Given the description of an element on the screen output the (x, y) to click on. 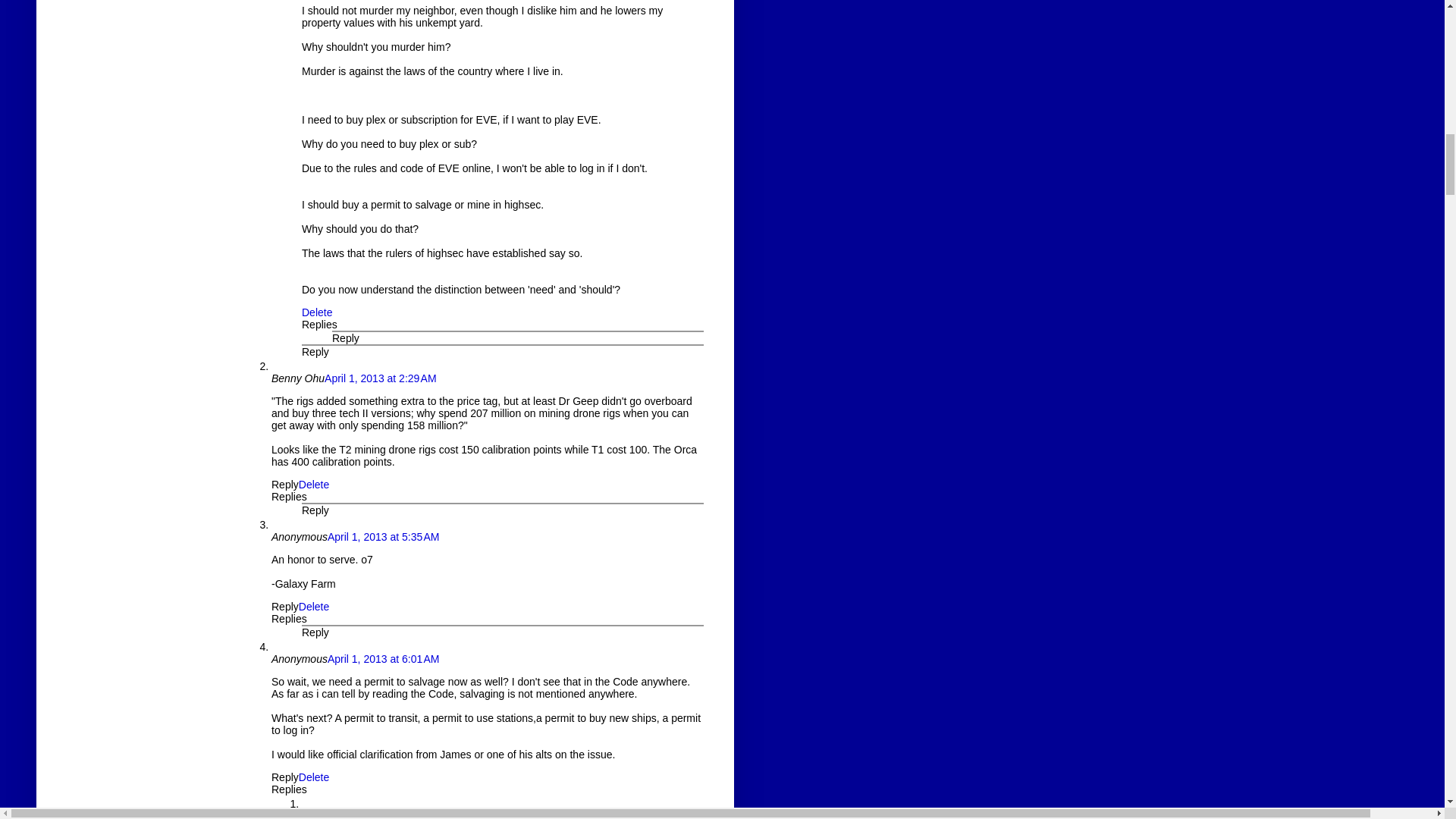
Reply (345, 337)
Reply (315, 351)
Delete (316, 312)
Replies (319, 324)
